Given the description of an element on the screen output the (x, y) to click on. 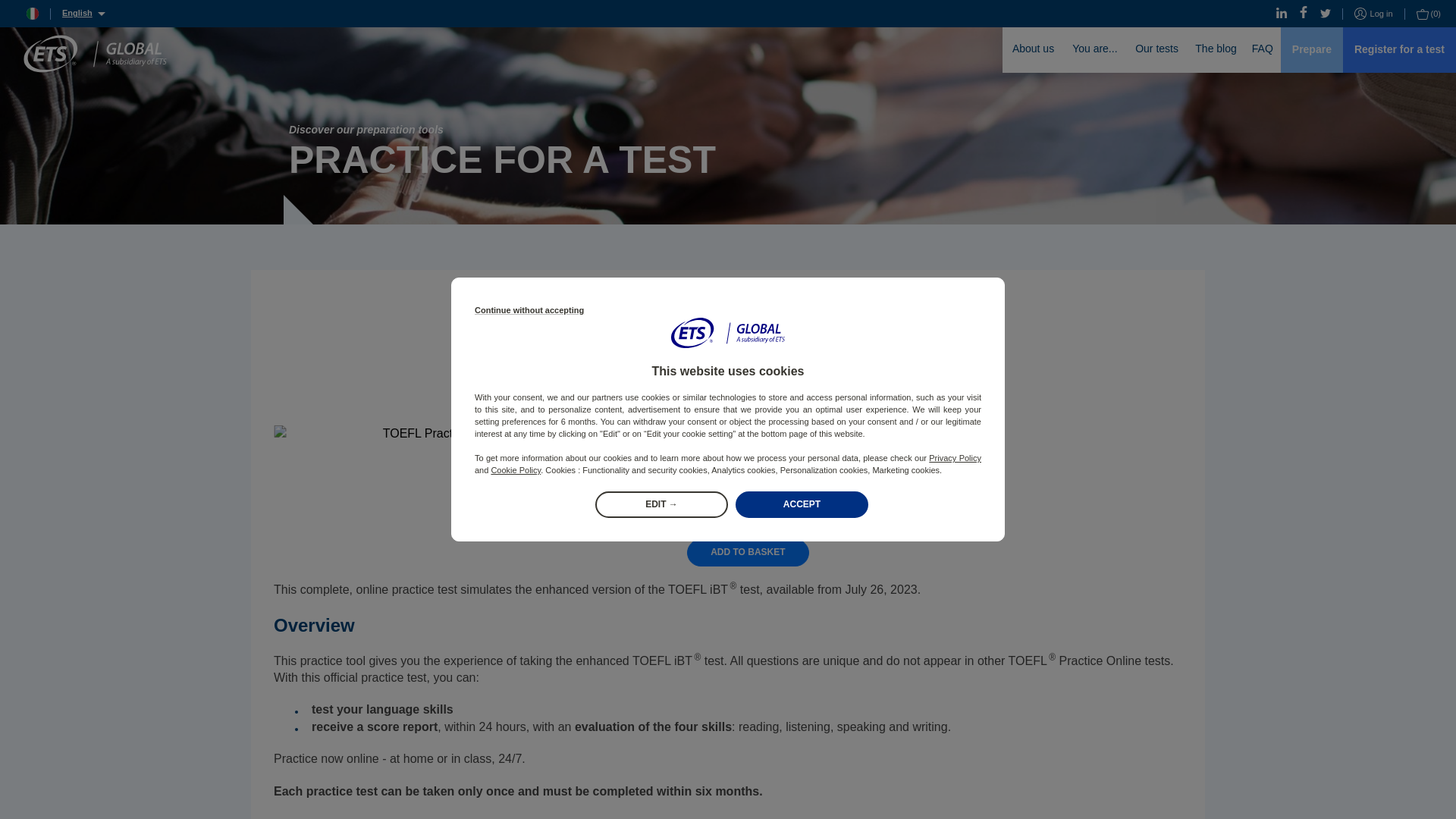
You are... (1094, 49)
Our tests (1156, 49)
You are... (1094, 49)
Our tests (1156, 49)
ETS Global (84, 50)
Log in (1373, 13)
ETS Global (94, 53)
About us (1033, 49)
About us (1033, 49)
English (83, 13)
